Given the description of an element on the screen output the (x, y) to click on. 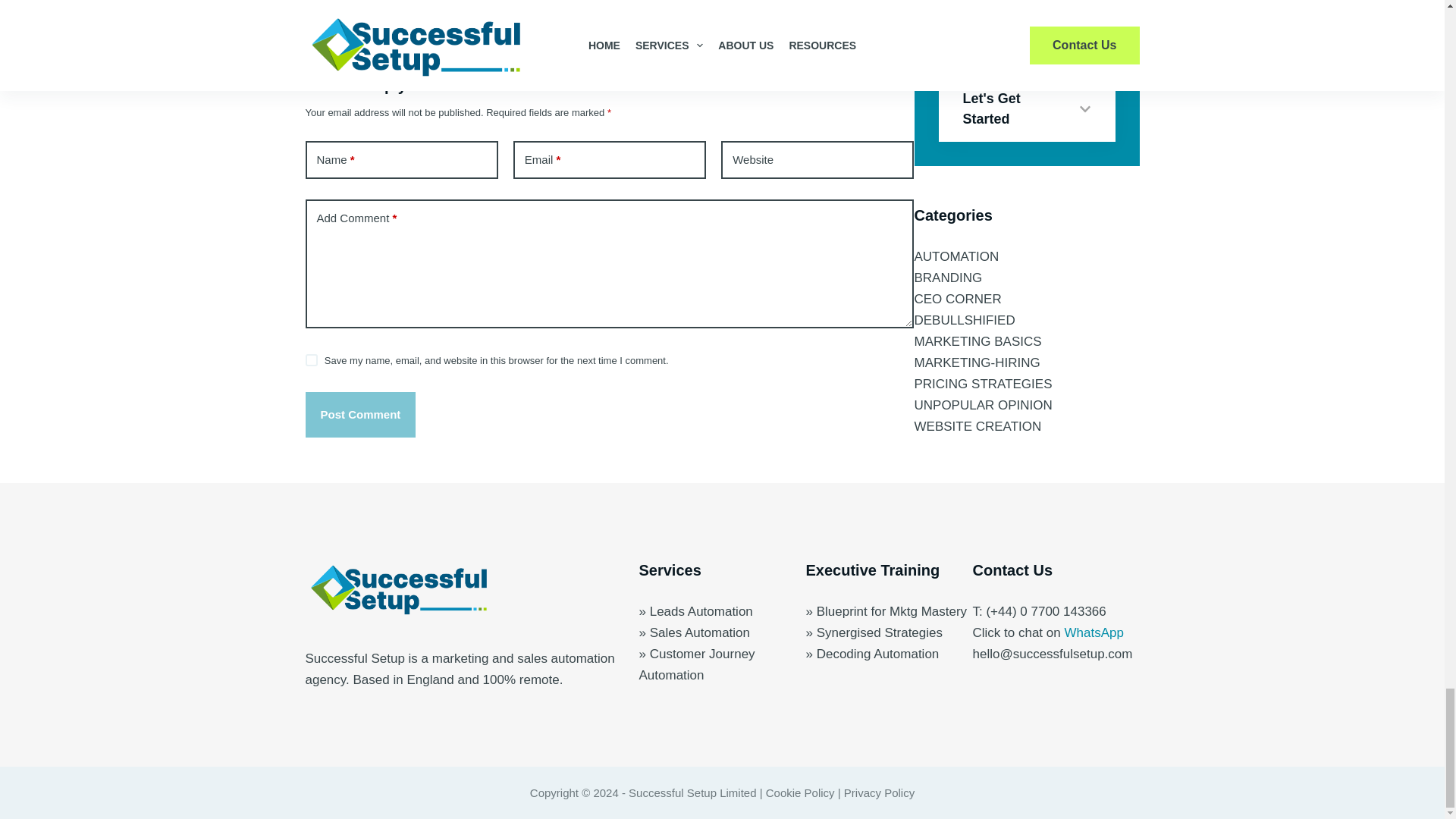
yes (310, 359)
Post Comment (359, 414)
